Given the description of an element on the screen output the (x, y) to click on. 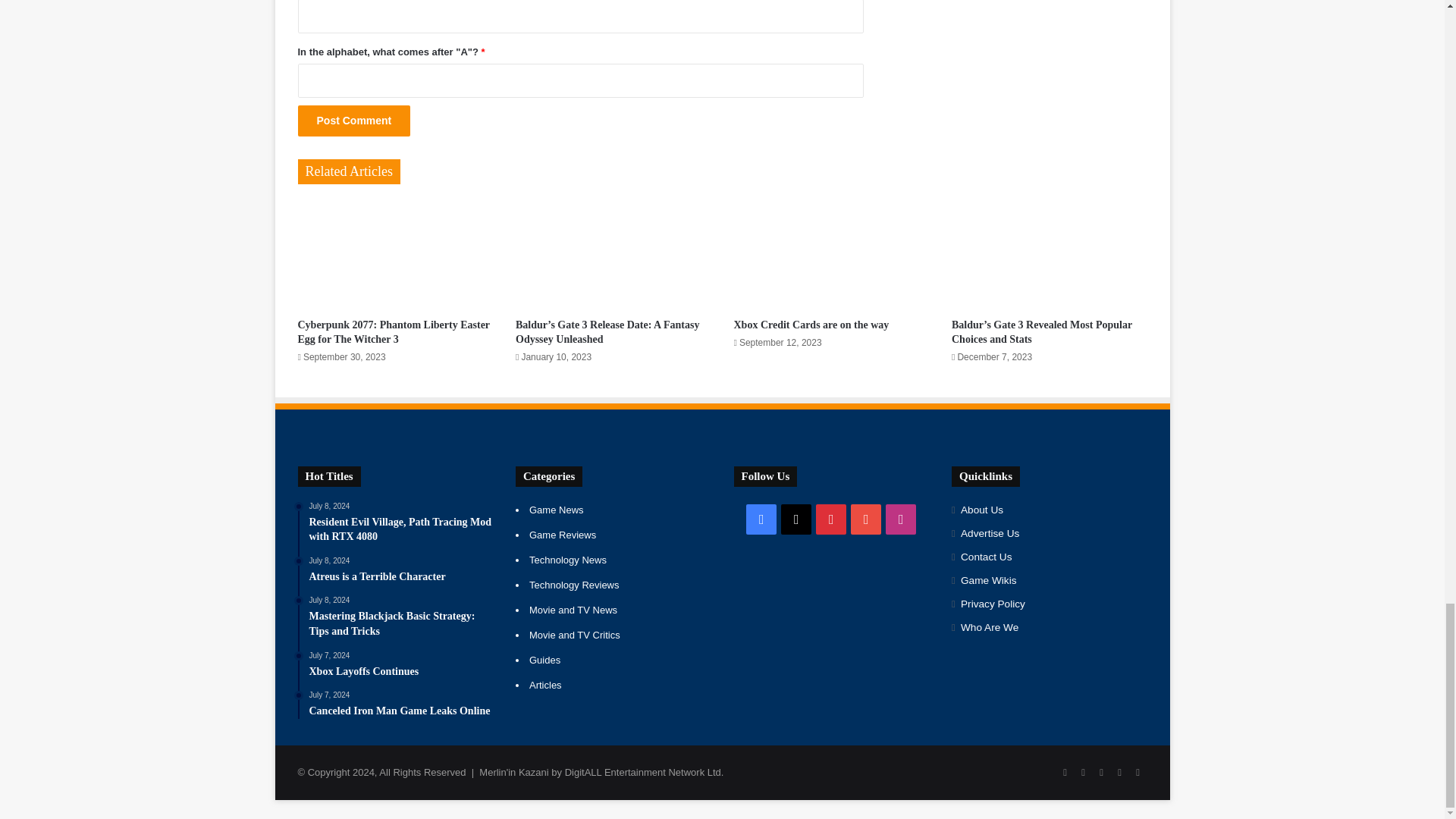
Post Comment (353, 120)
